Given the description of an element on the screen output the (x, y) to click on. 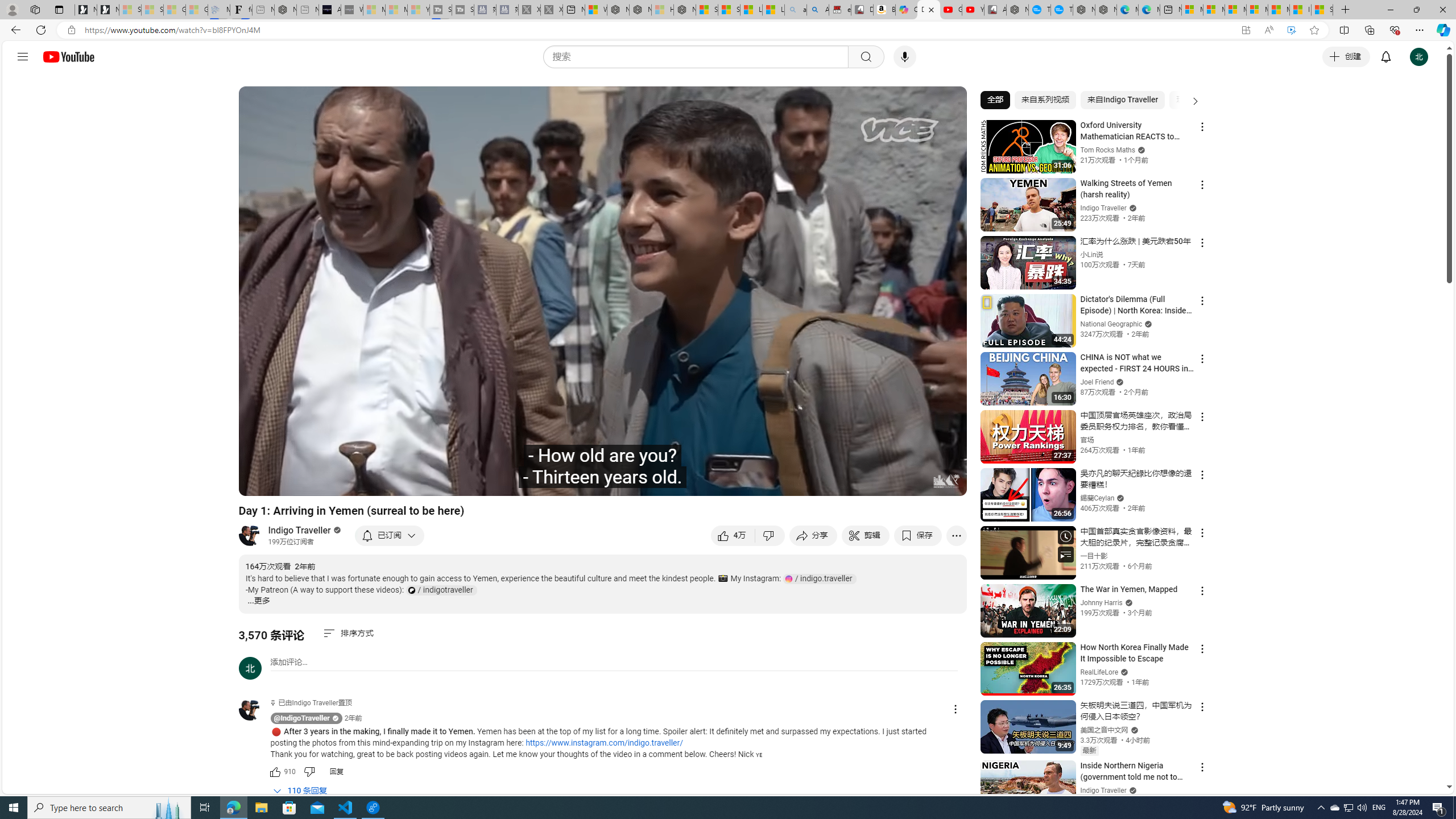
amazon - Search - Sleeping (795, 9)
AI Voice Changer for PC and Mac - Voice.ai (330, 9)
@IndigoTraveller (254, 709)
@IndigoTraveller (301, 718)
